Given the description of an element on the screen output the (x, y) to click on. 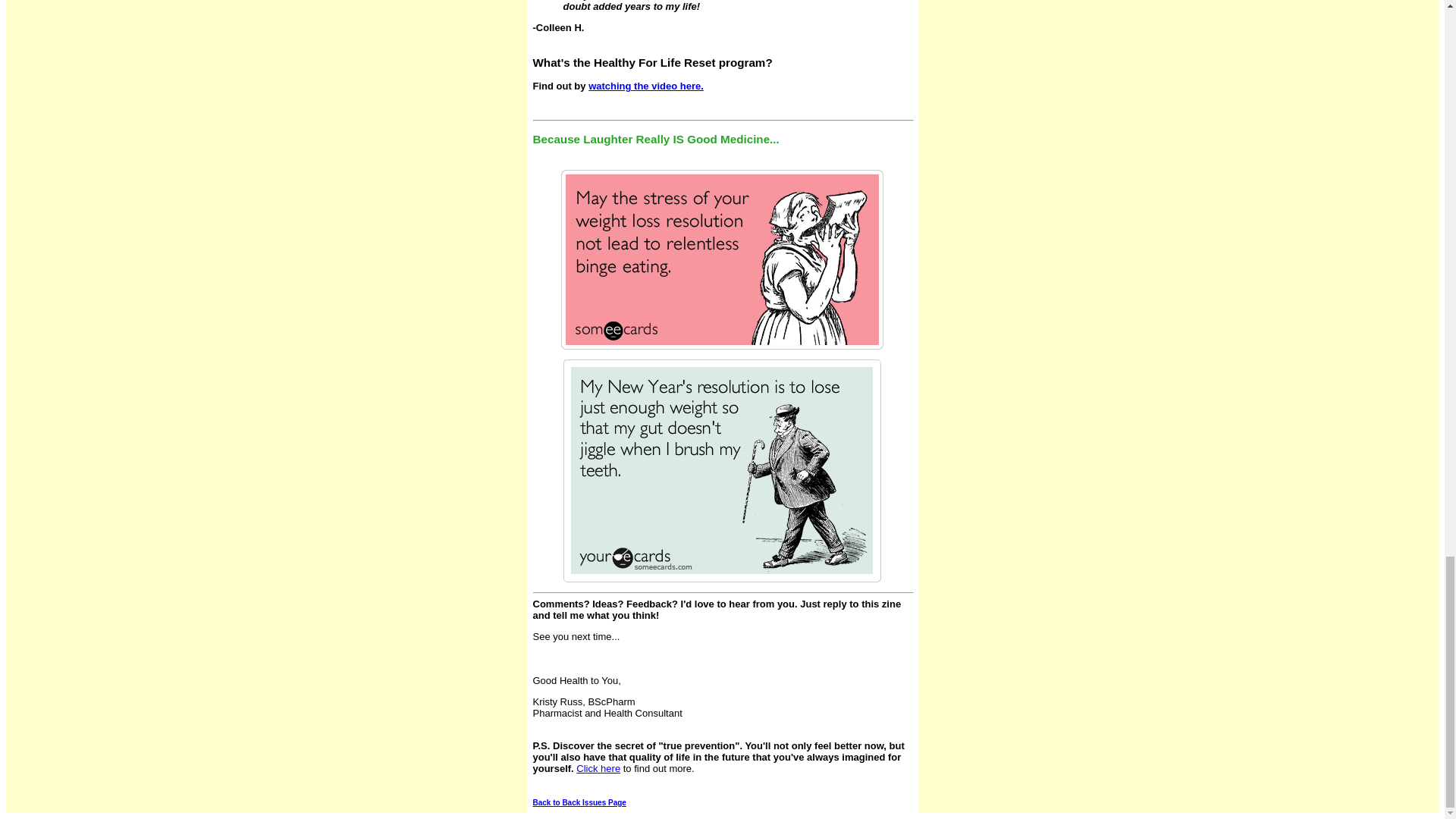
Click here (598, 767)
watching the video here. (645, 85)
Back to Back Issues Page (579, 802)
